Given the description of an element on the screen output the (x, y) to click on. 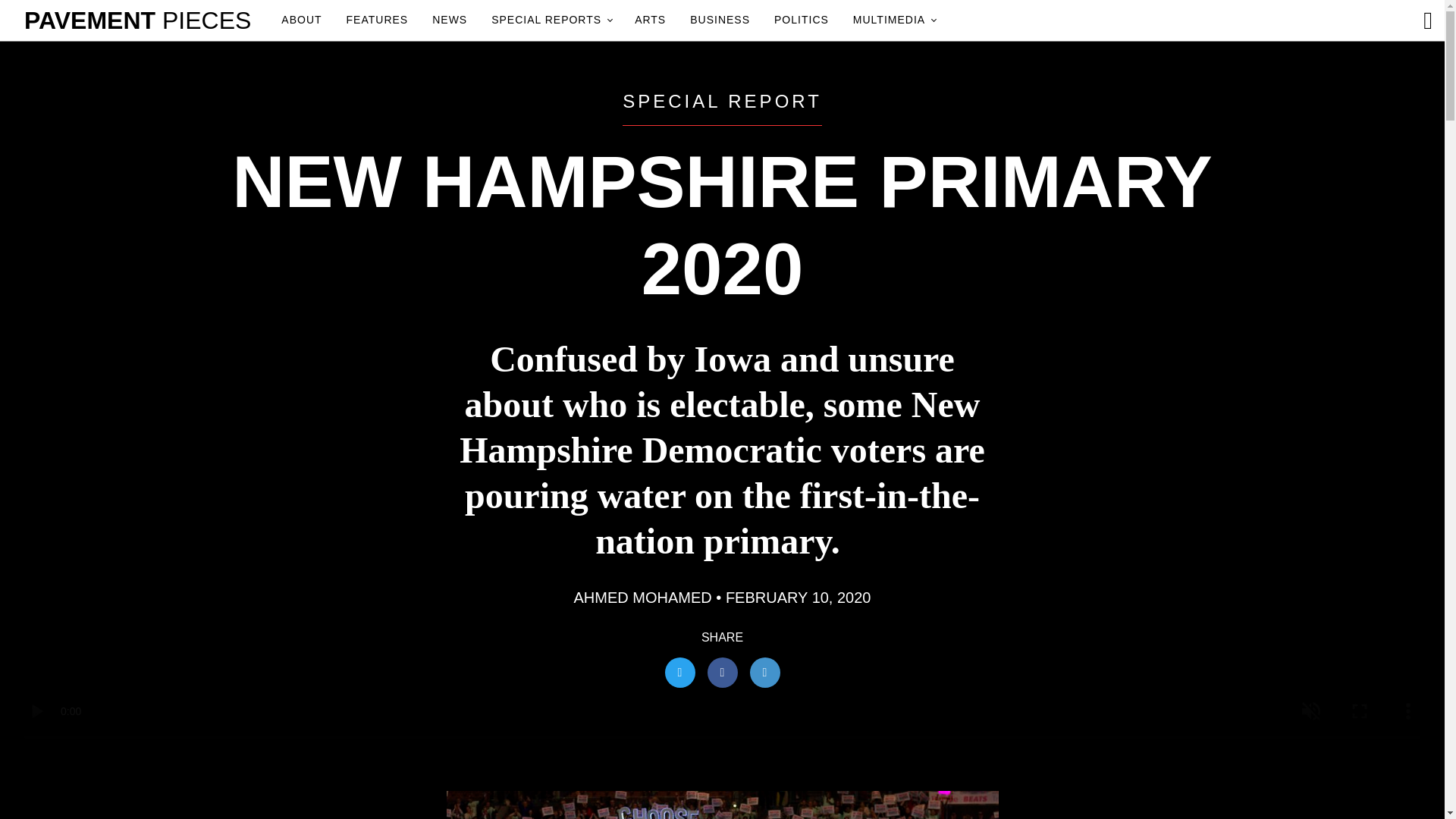
Email this article (763, 672)
Share to Twitter (678, 672)
BUSINESS (719, 20)
Posts by Ahmed Mohamed (642, 597)
Share to Facebook (721, 672)
POLITICS (801, 20)
MULTIMEDIA (893, 20)
PAVEMENT PIECES (137, 20)
NEWS (449, 20)
